Given the description of an element on the screen output the (x, y) to click on. 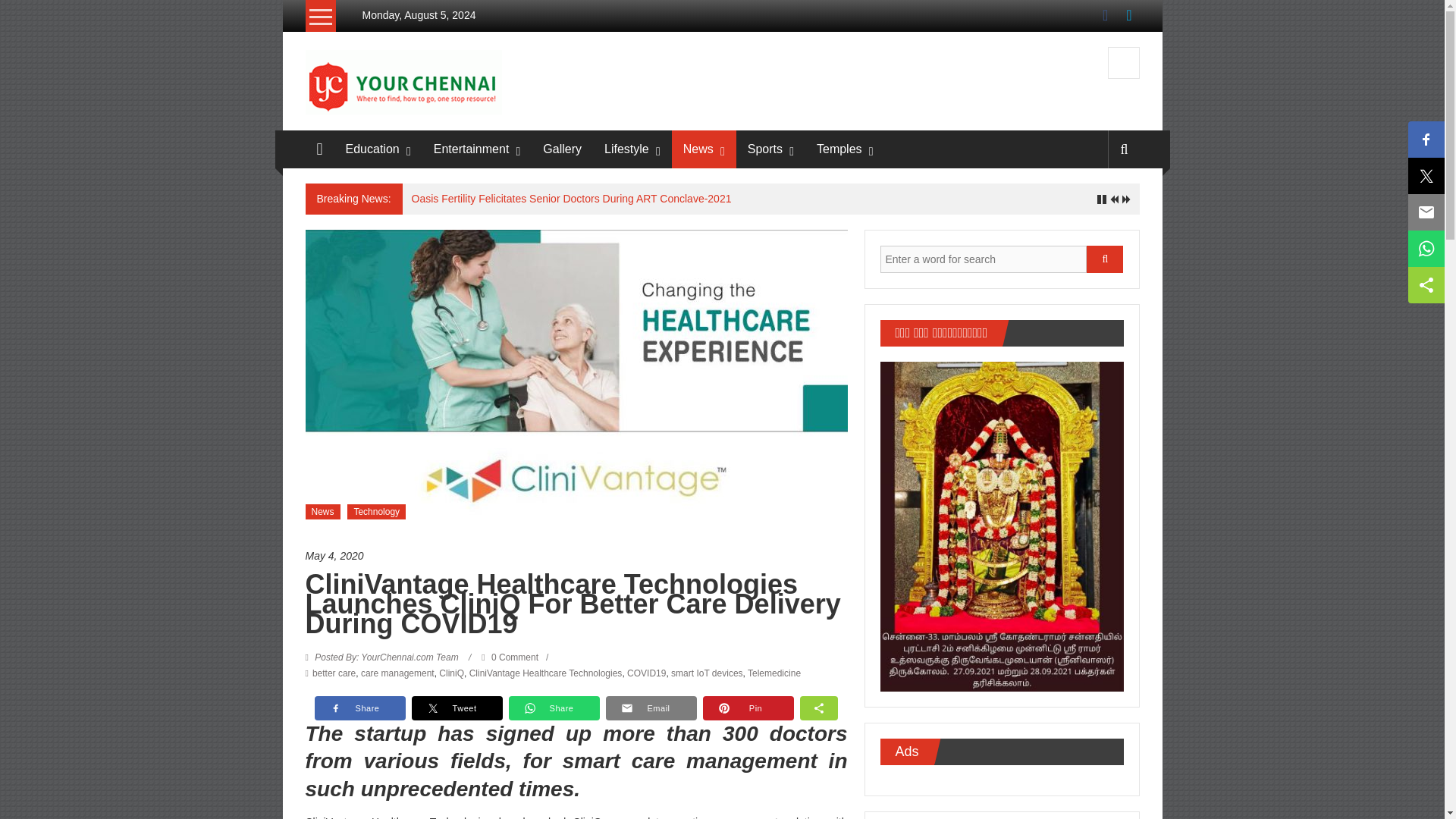
YourChennai.com Team (387, 656)
Entertainment (471, 149)
Education (372, 149)
7:43 am (575, 555)
